Given the description of an element on the screen output the (x, y) to click on. 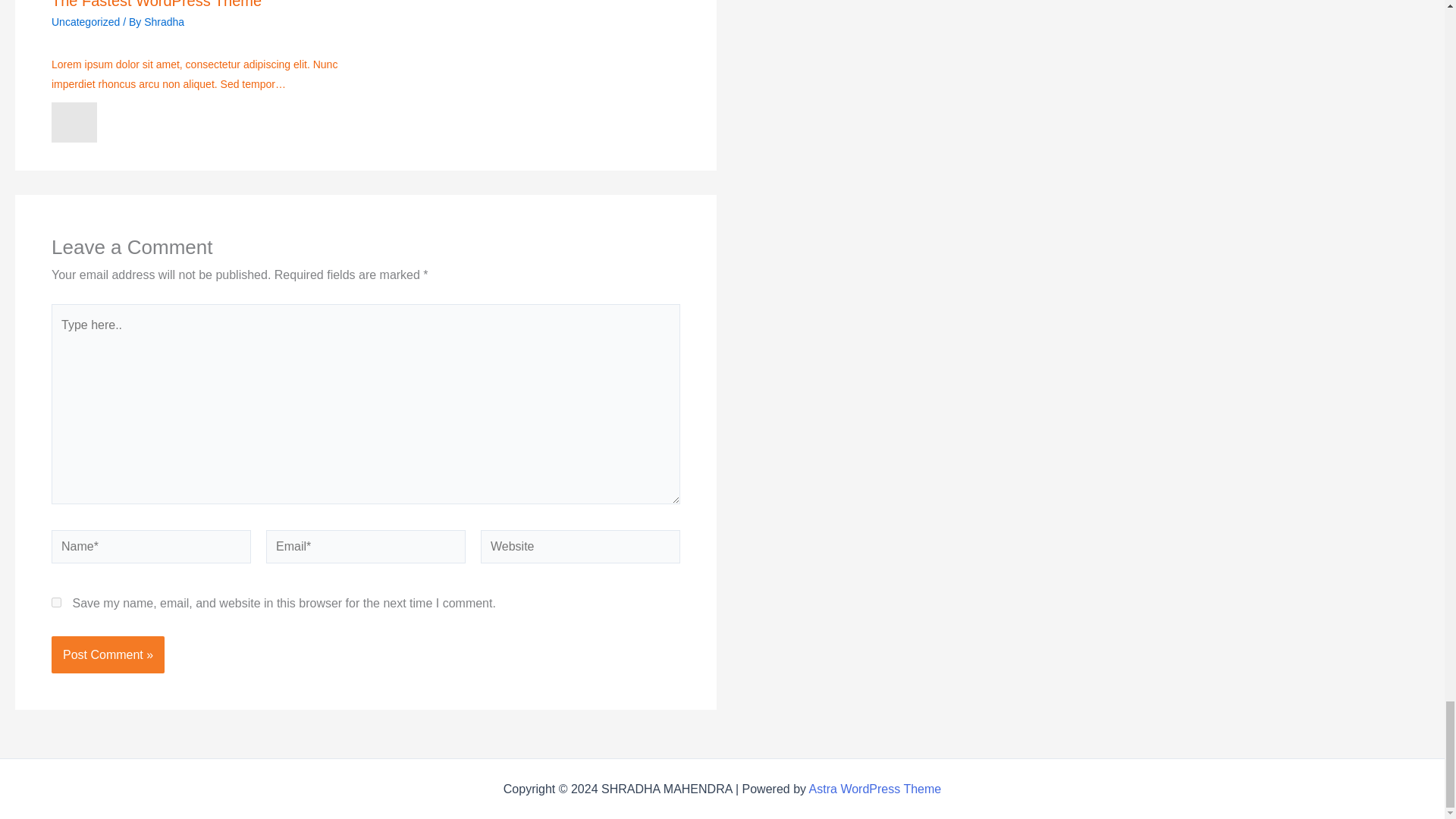
yes (55, 602)
View all posts by Shradha (164, 21)
